Given the description of an element on the screen output the (x, y) to click on. 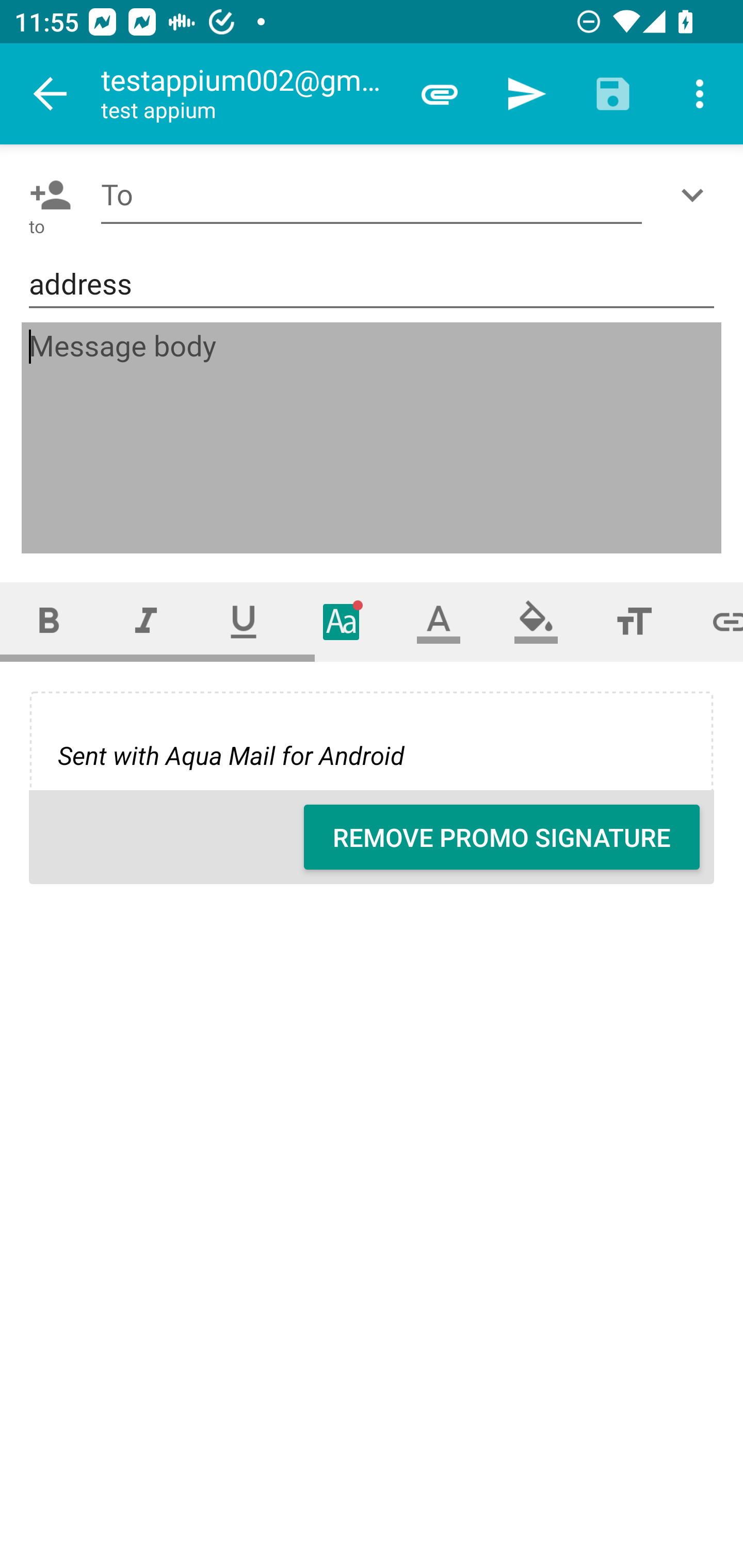
Navigate up (50, 93)
testappium002@gmail.com test appium (248, 93)
Attach (439, 93)
Send (525, 93)
Save (612, 93)
More options (699, 93)
Pick contact: To (46, 195)
Show/Add CC/BCC (696, 195)
To (371, 195)
address (371, 284)
Message body (372, 438)
Bold (48, 621)
Italic (145, 621)
Underline (243, 621)
Typeface (font) (341, 621)
Text color (438, 621)
Fill color (536, 621)
Font size (633, 621)
REMOVE PROMO SIGNATURE (501, 837)
